Given the description of an element on the screen output the (x, y) to click on. 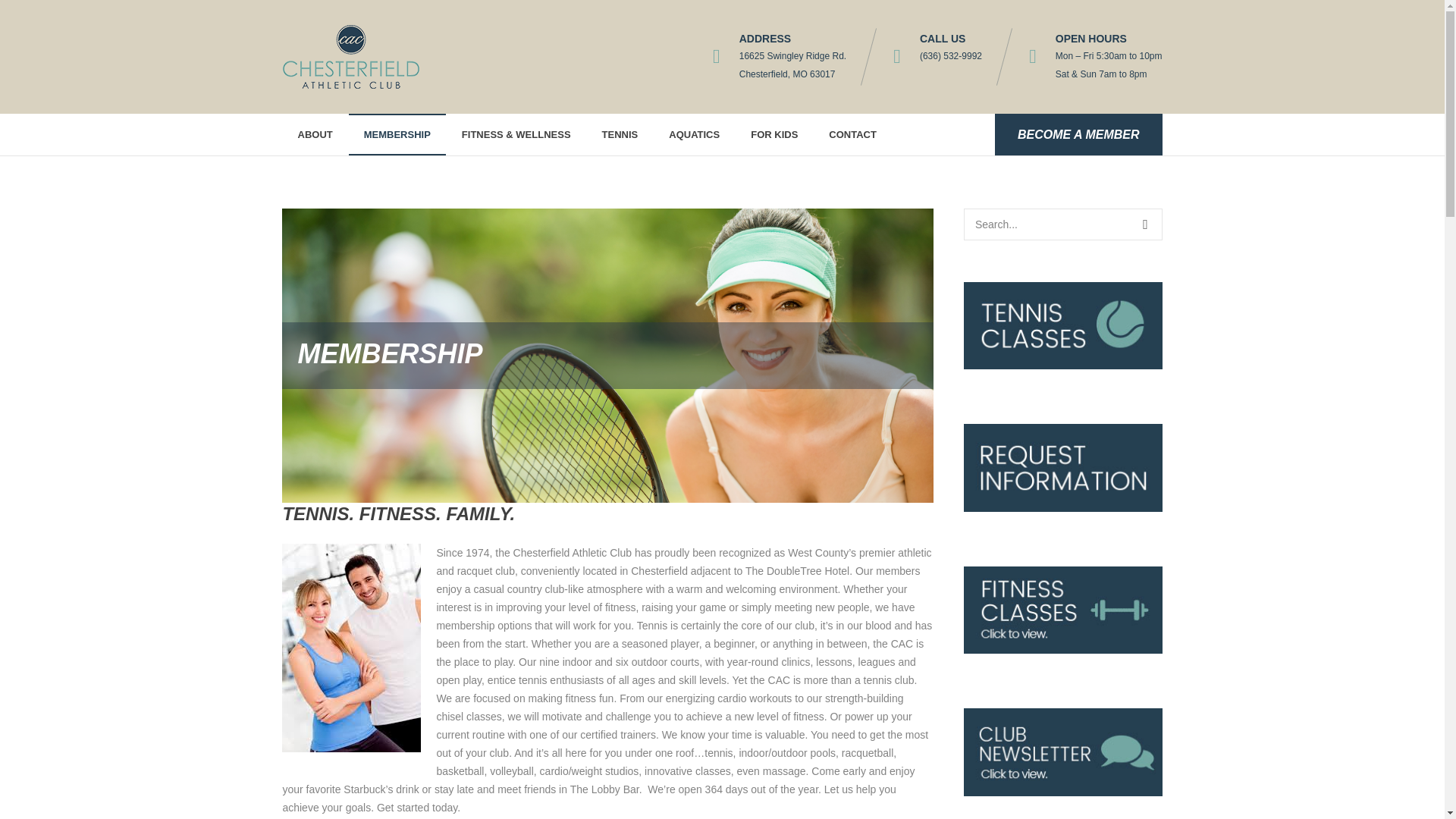
FOR KIDS (773, 134)
CONTACT (852, 134)
AQUATICS (694, 134)
BECOME A MEMBER (1077, 134)
ABOUT (314, 134)
MEMBERSHIP (397, 134)
TENNIS (619, 134)
